Given the description of an element on the screen output the (x, y) to click on. 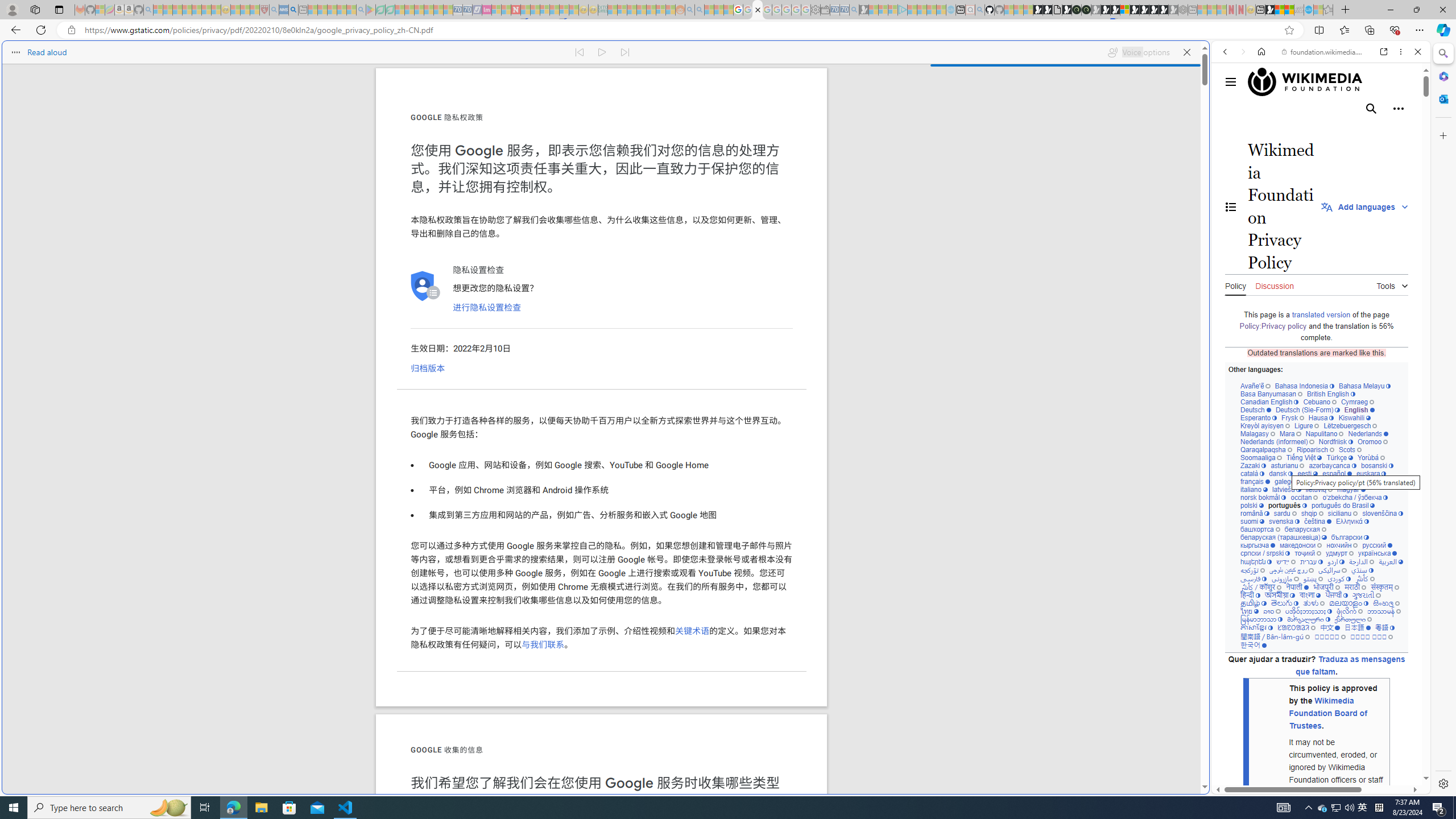
euskara (1370, 473)
Traduza as mensagens que faltam (1350, 665)
translated version (1321, 314)
magyar (1350, 488)
World - MSN (1279, 9)
Web scope (1230, 102)
Preferences (1403, 129)
Search the web (1326, 78)
